Given the description of an element on the screen output the (x, y) to click on. 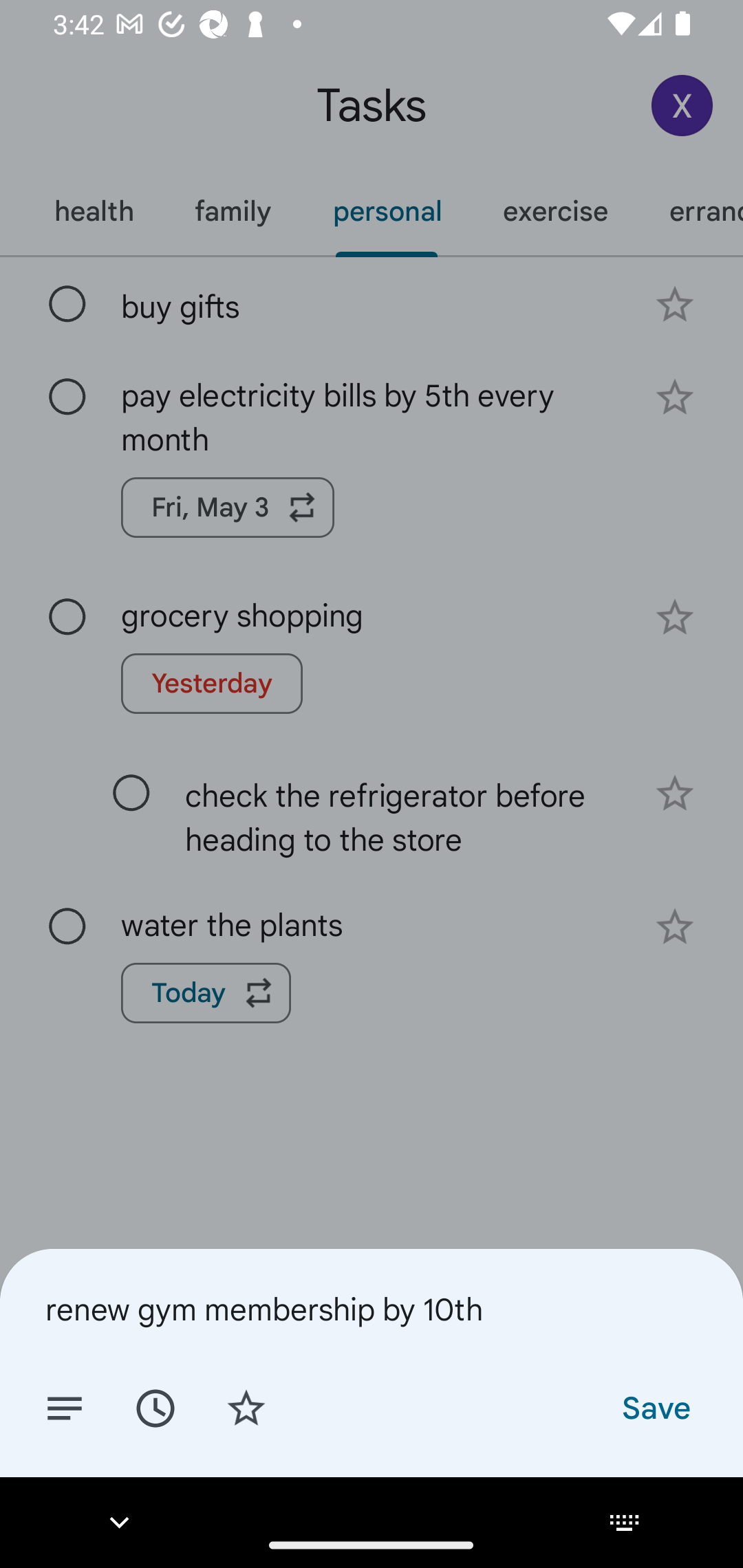
renew gym membership by 10th (371, 1308)
Save (655, 1407)
Add details (64, 1407)
Set date/time (154, 1407)
Add star (245, 1407)
